Given the description of an element on the screen output the (x, y) to click on. 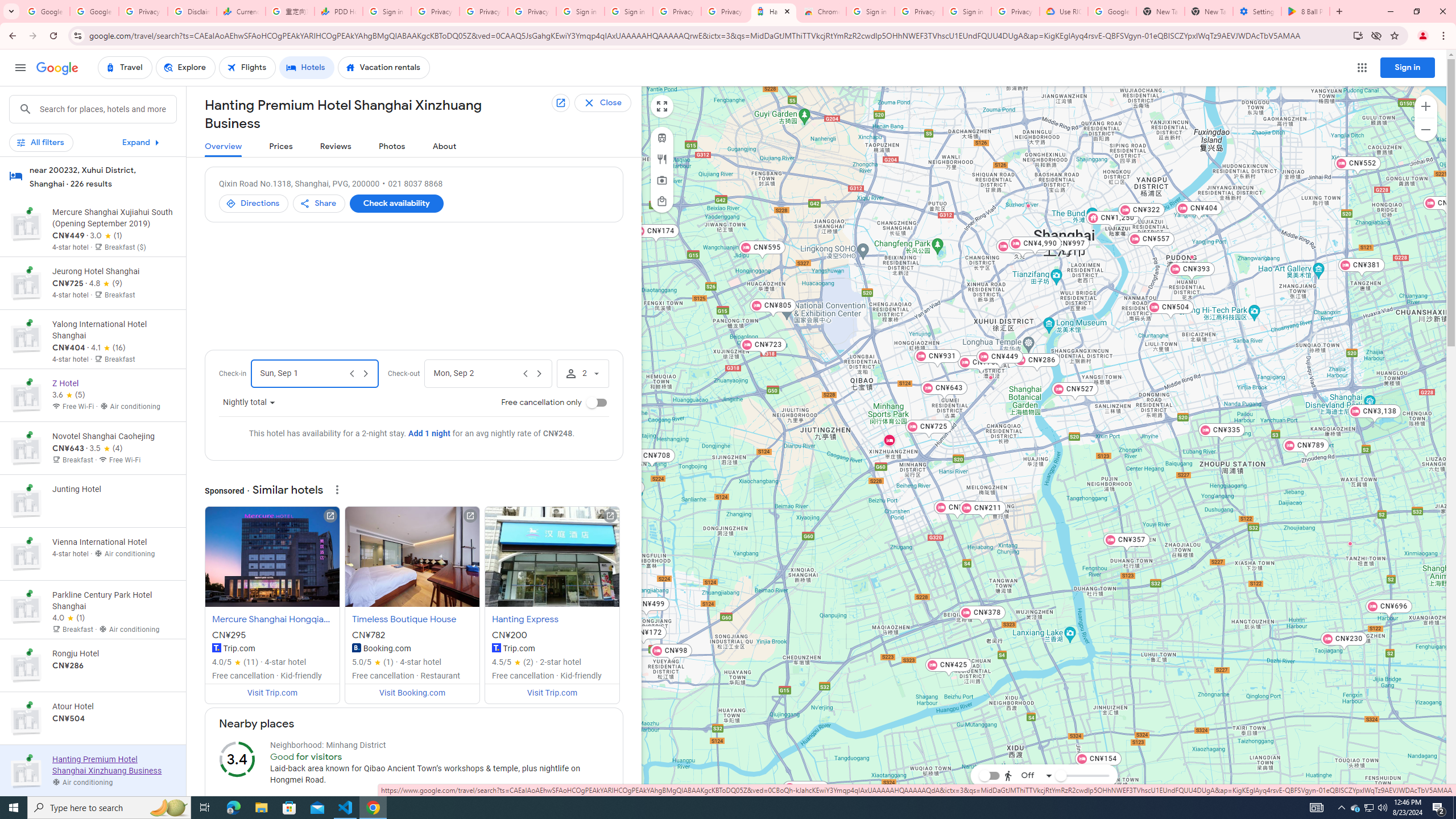
Parkline Century Park Hotel Shanghai (1191, 256)
Settings - System (1257, 11)
Vienna International Hotel (1027, 205)
Sign in - Google Accounts (628, 11)
View prices for Junting Hotel (113, 540)
Hotels (306, 67)
